Given the description of an element on the screen output the (x, y) to click on. 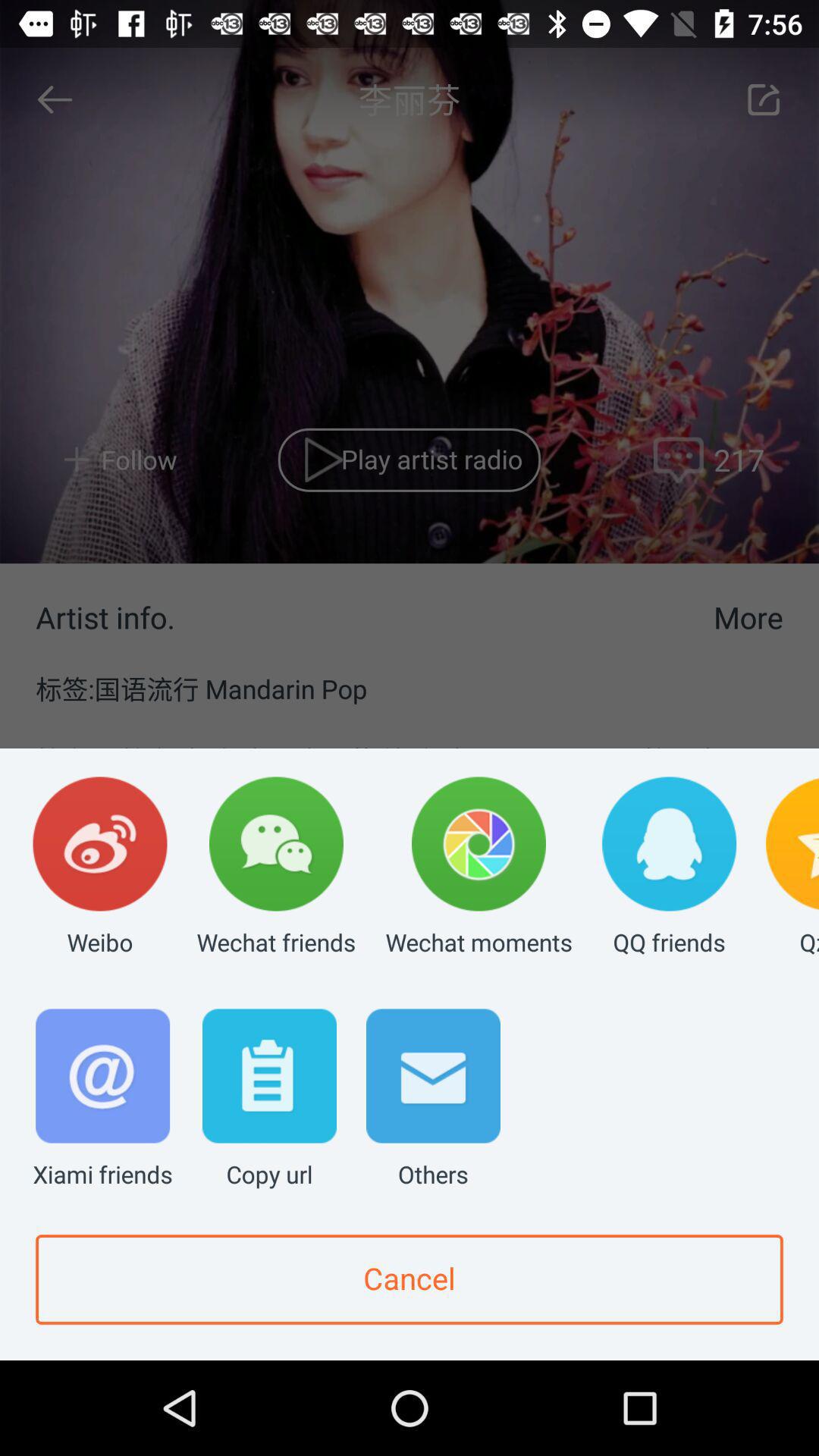
press the weibo app (99, 867)
